Given the description of an element on the screen output the (x, y) to click on. 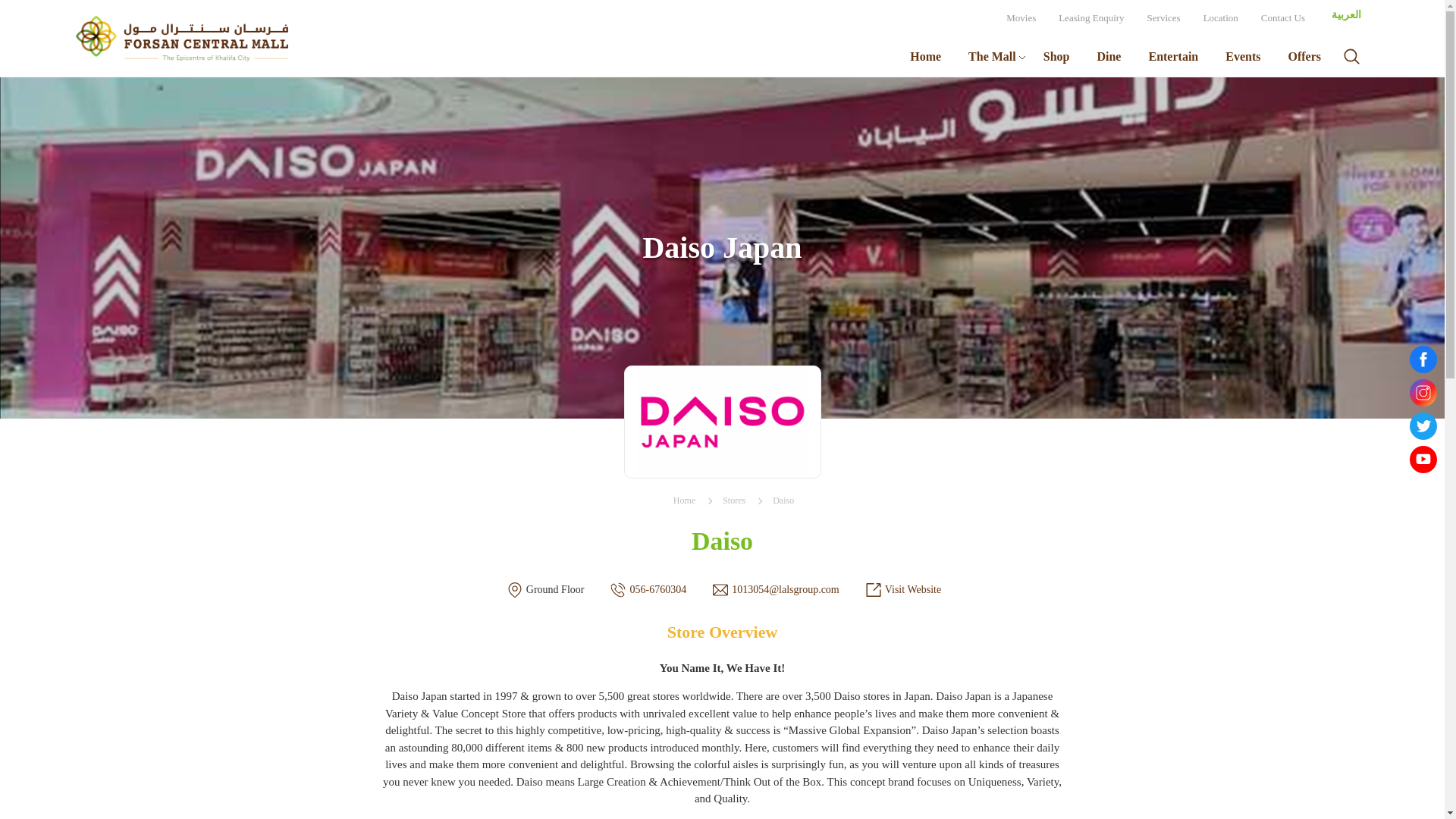
Leasing Enquiry (1090, 18)
Stores (733, 500)
Location (1220, 18)
Services (1163, 18)
Events (1242, 56)
Visit Website (912, 589)
Offers (1304, 56)
Movies (1020, 18)
Shop (1056, 56)
056-6760304 (656, 589)
Home (925, 56)
The Mall (992, 56)
Contact Us (1282, 18)
Dine (1108, 56)
Entertain (1172, 56)
